Given the description of an element on the screen output the (x, y) to click on. 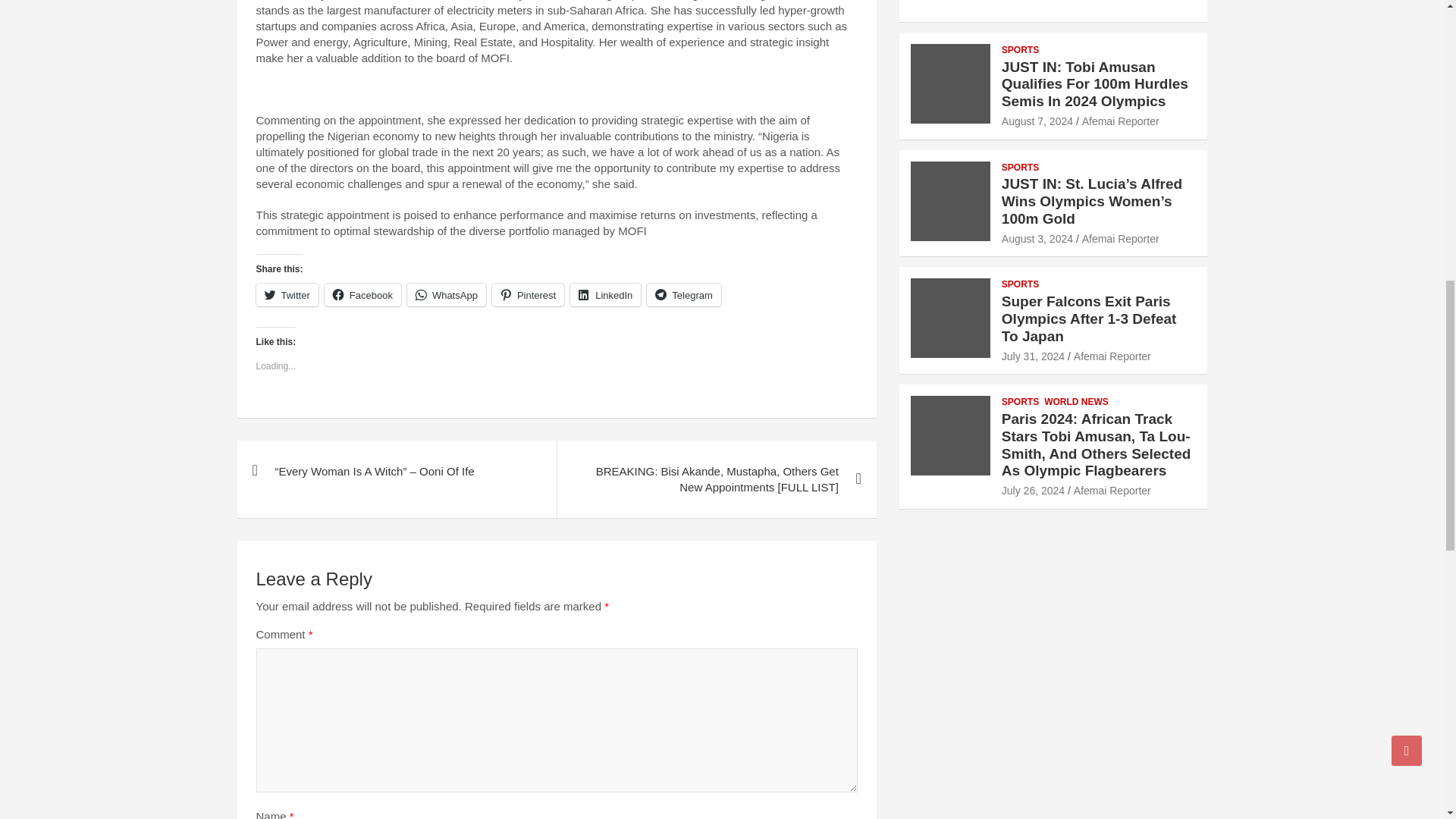
Pinterest (528, 294)
Click to share on Facebook (362, 294)
Telegram (683, 294)
Click to share on Telegram (683, 294)
Twitter (287, 294)
Click to share on Pinterest (528, 294)
WhatsApp (446, 294)
Click to share on WhatsApp (446, 294)
Facebook (362, 294)
LinkedIn (605, 294)
